Given the description of an element on the screen output the (x, y) to click on. 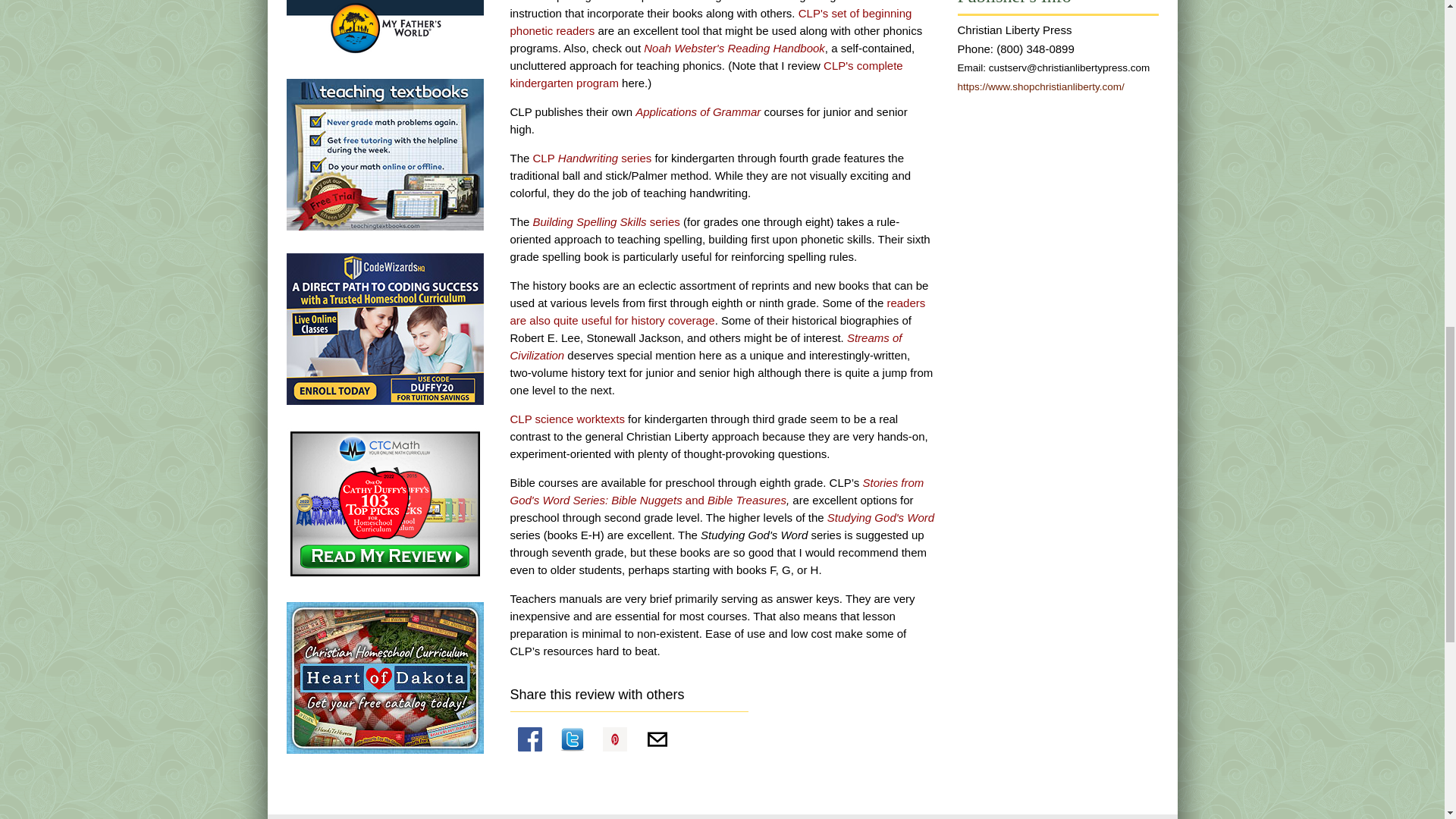
Teaching Textbooks (384, 153)
Heart of Dakota (384, 676)
chris (384, 501)
